Given the description of an element on the screen output the (x, y) to click on. 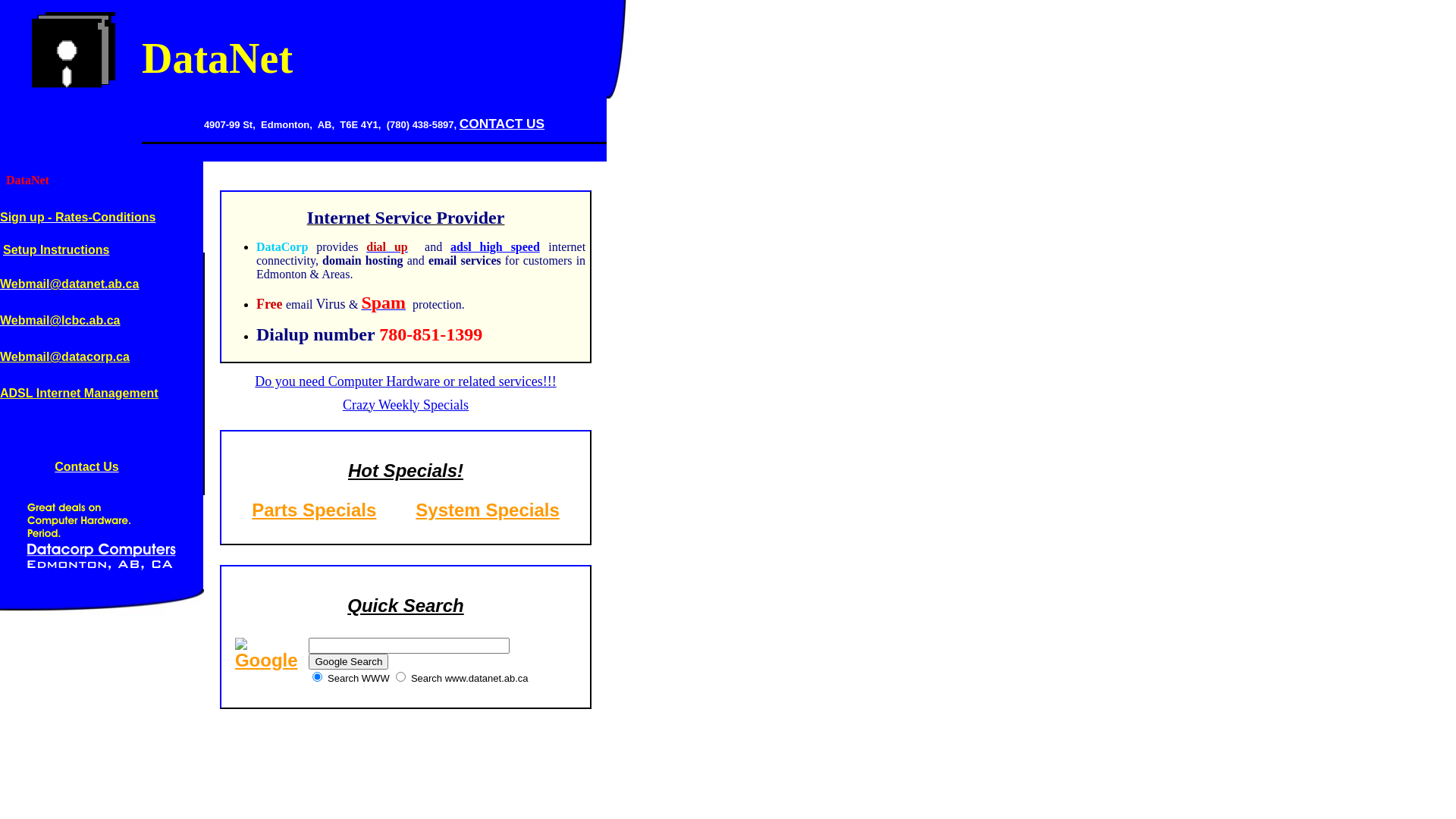
Webmail@datacorp.ca Element type: text (64, 356)
Crazy Weekly Specials Element type: text (405, 404)
Setup Instructions Element type: text (56, 249)
Sign up - Rates-Conditions Element type: text (77, 216)
adsl high speed Element type: text (494, 246)
Parts Specials Element type: text (313, 509)
System Specials Element type: text (486, 509)
Spam Element type: text (382, 304)
Contact Us Element type: text (86, 466)
Do you need Computer Hardware or related services!!! Element type: text (404, 381)
Webmail@lcbc.ab.ca Element type: text (59, 319)
ADSL Internet Management Element type: text (79, 392)
Google Search Element type: text (348, 661)
Webmail@datanet.ab.ca Element type: text (69, 283)
CONTACT US Element type: text (501, 123)
dial up Element type: text (386, 246)
